Given the description of an element on the screen output the (x, y) to click on. 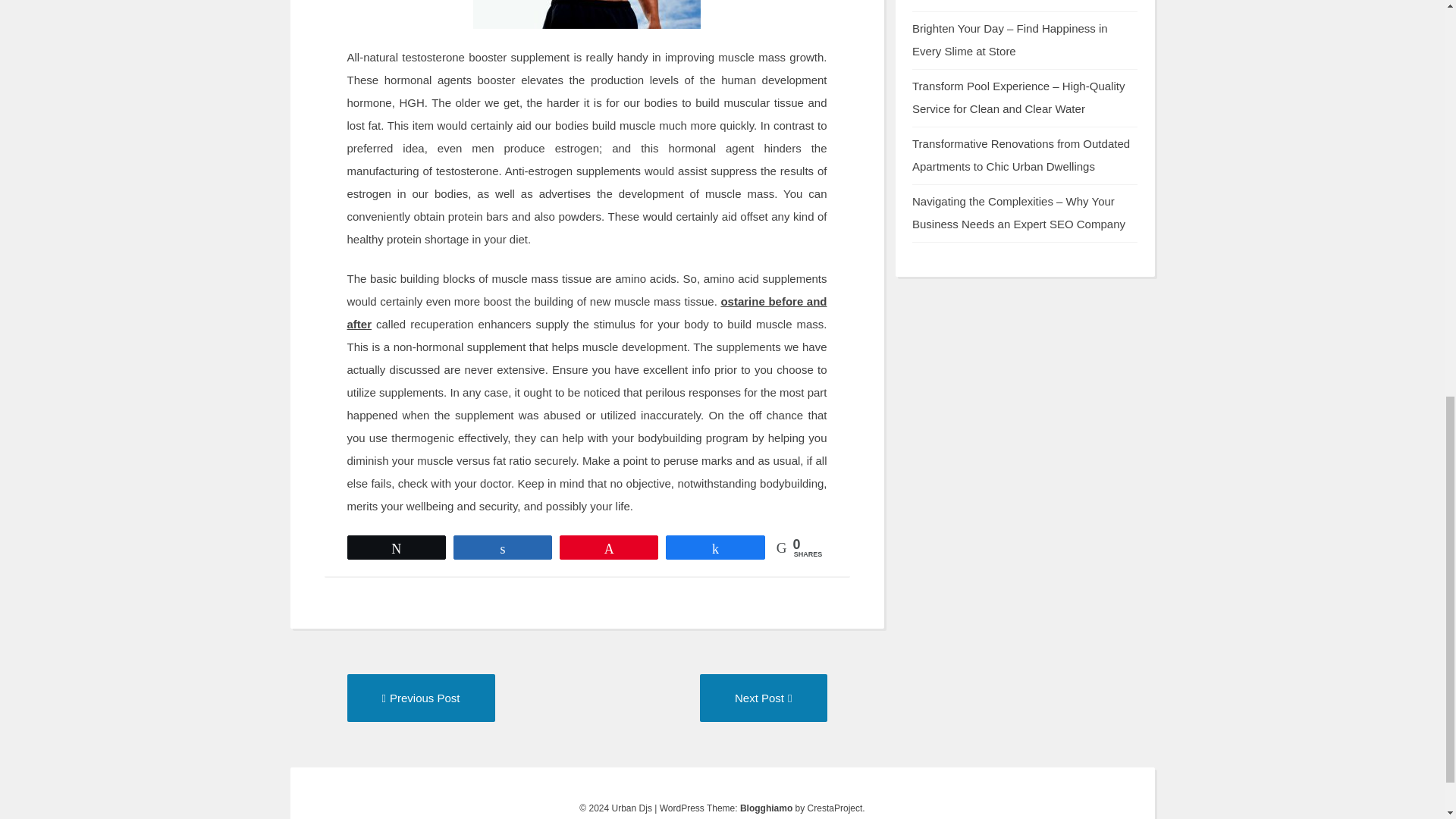
Nutritional supplement to lose excess weight (763, 697)
Blogghiamo (763, 697)
ostarine before and after (765, 808)
